Given the description of an element on the screen output the (x, y) to click on. 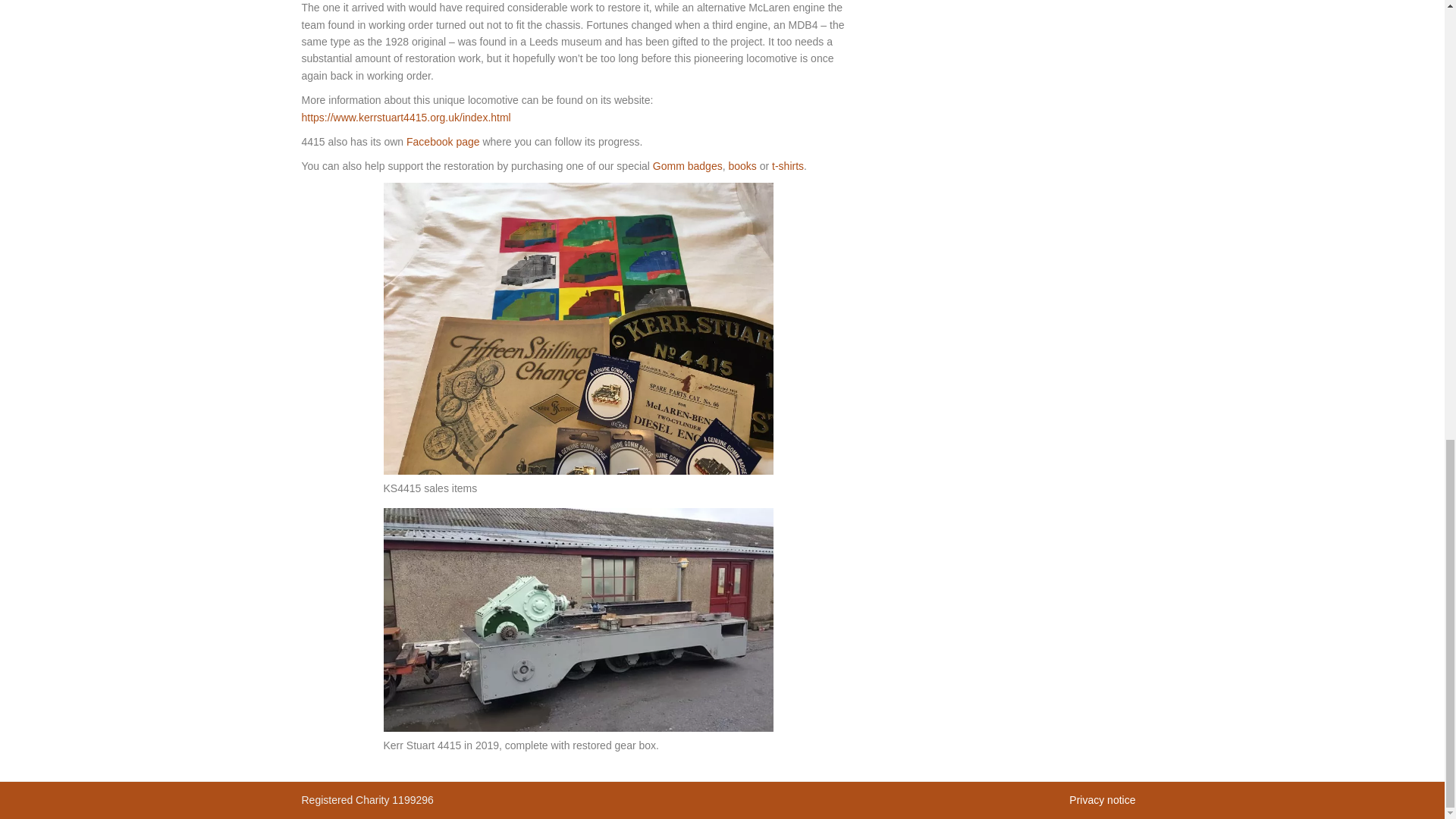
t-shirts (787, 165)
Facebook page (443, 141)
Gomm badges (687, 165)
books (741, 165)
Privacy notice (1101, 799)
